Given the description of an element on the screen output the (x, y) to click on. 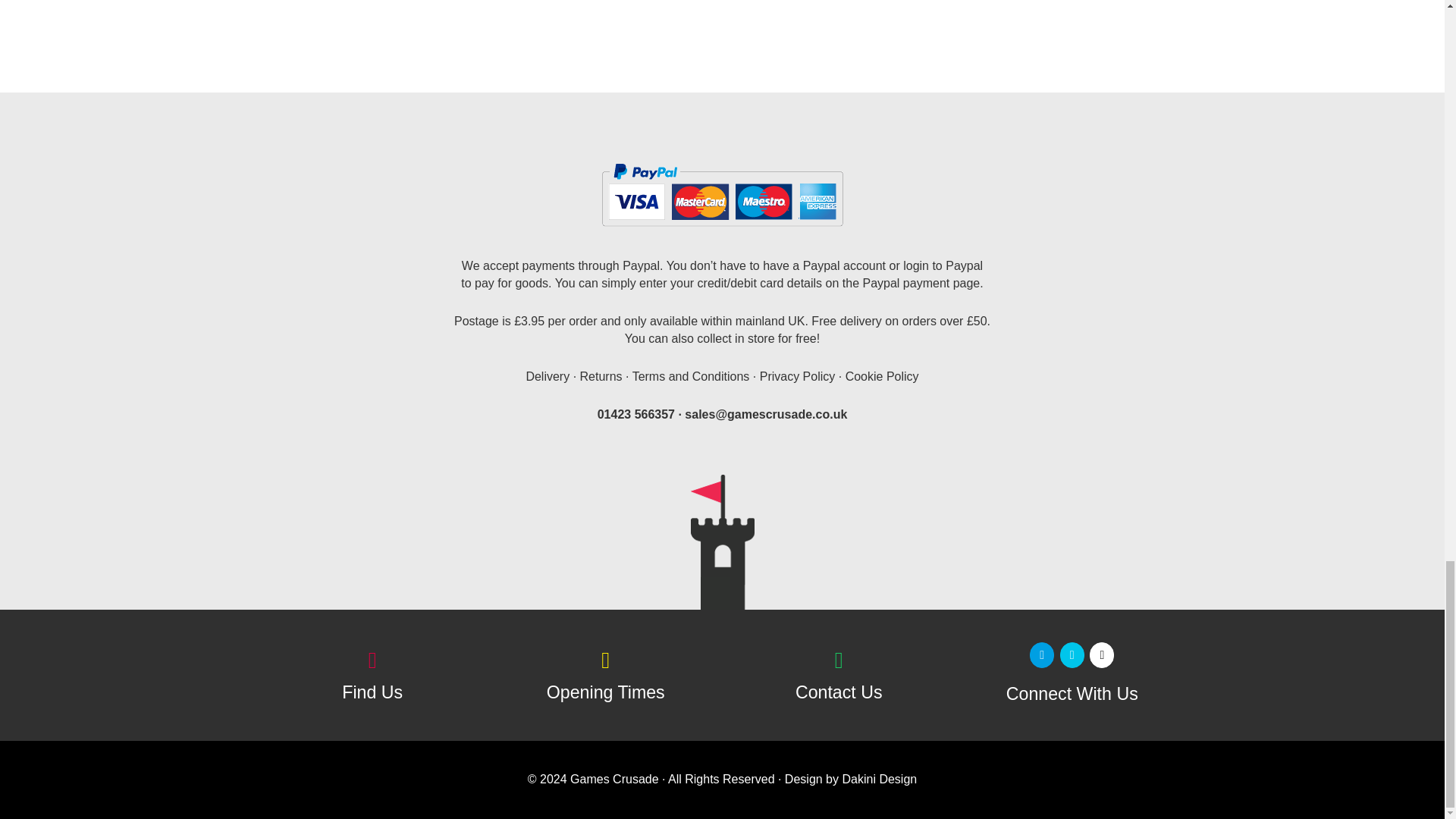
Games Crusade on Instagram (1101, 655)
Games Crusade on X Twitter (1071, 655)
Games Crusade on Facebook (1041, 655)
